Given the description of an element on the screen output the (x, y) to click on. 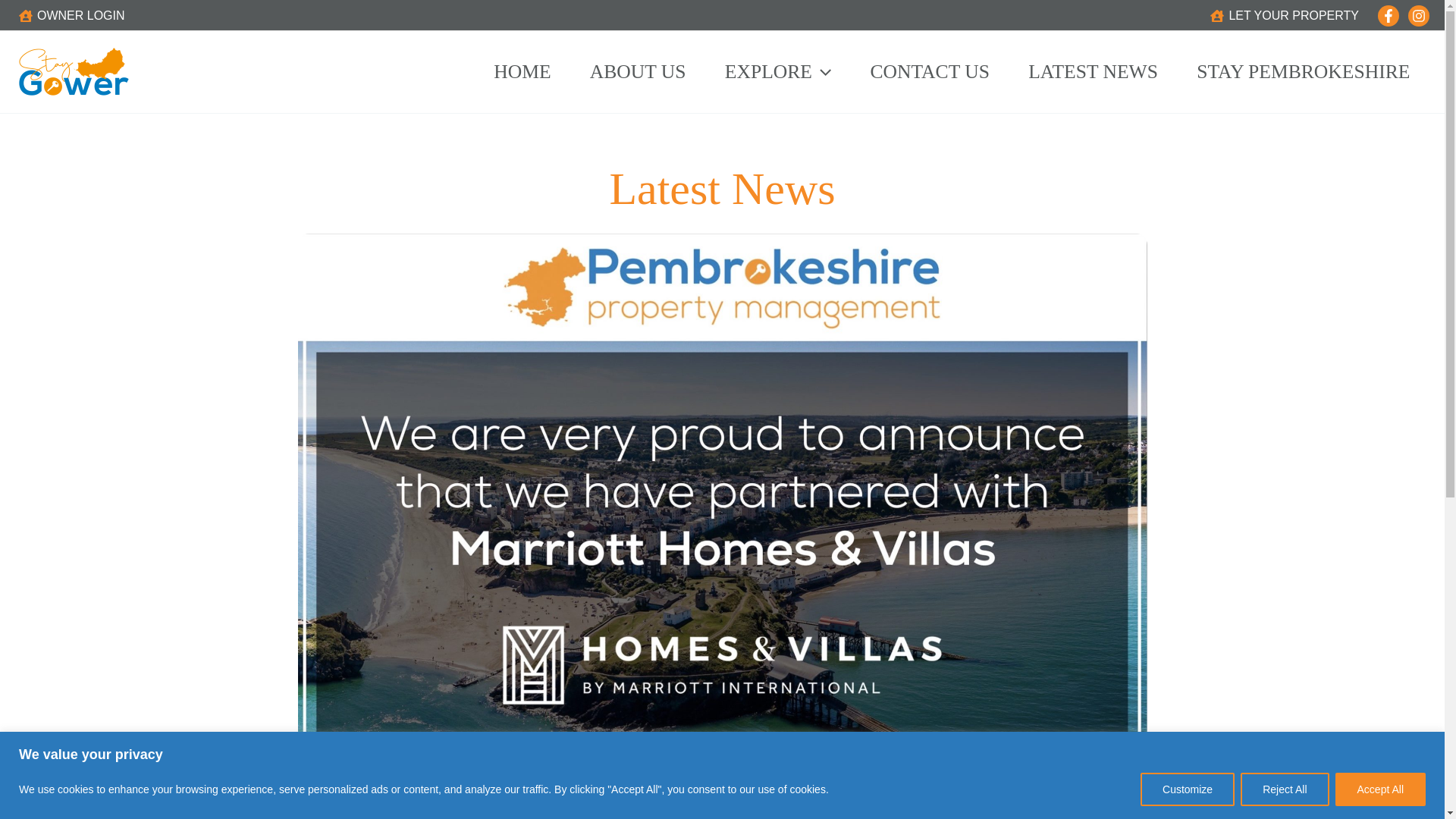
Customize (1187, 788)
LATEST NEWS (1093, 71)
CONTACT US (929, 71)
STAY PEMBROKESHIRE (1303, 71)
Accept All (1380, 788)
Reject All (1283, 788)
OWNER LOGIN (71, 15)
HOME (522, 71)
EXPLORE (777, 71)
LET YOUR PROPERTY (1284, 15)
